Given the description of an element on the screen output the (x, y) to click on. 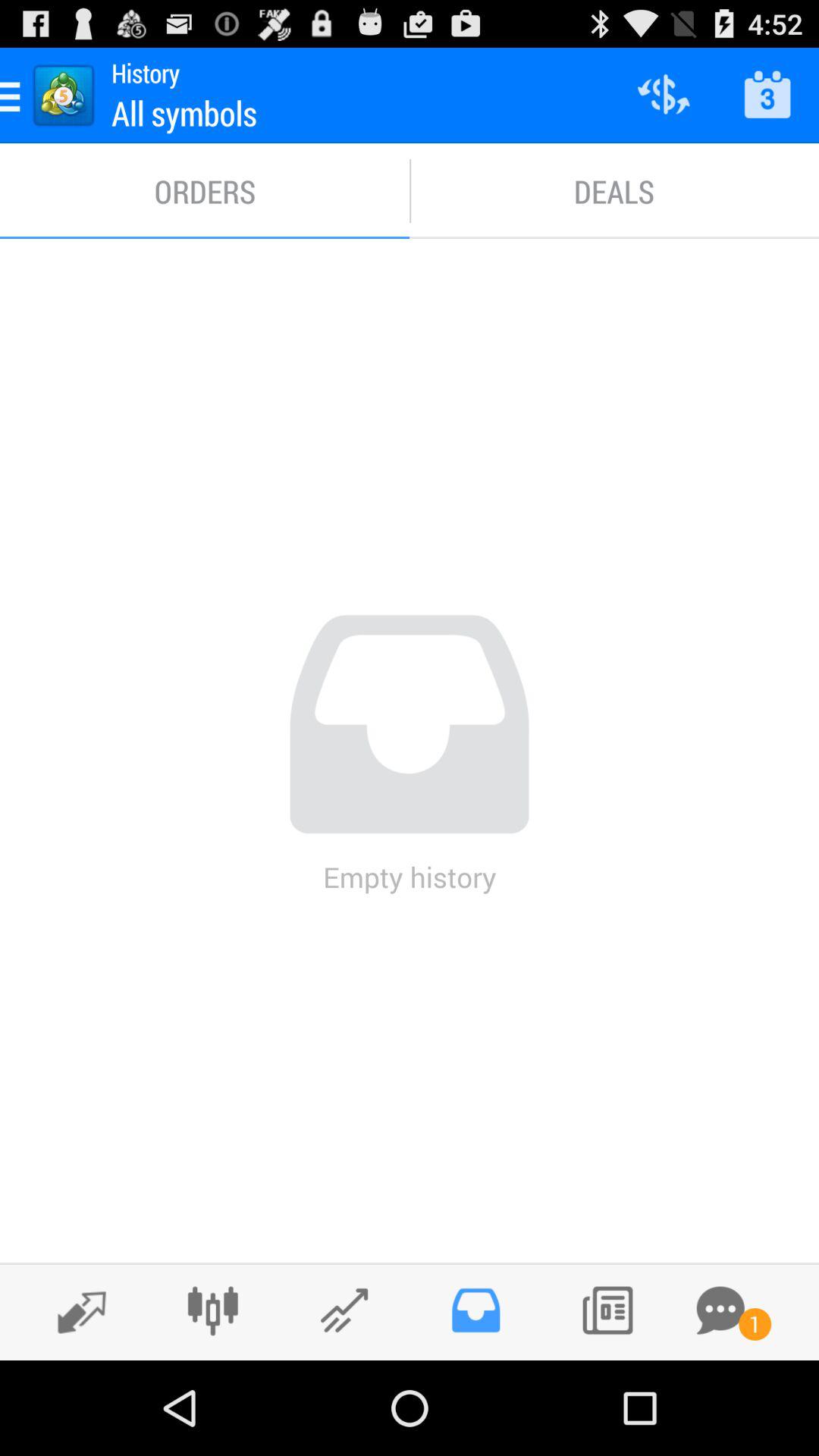
launch item above the empty history icon (204, 190)
